Given the description of an element on the screen output the (x, y) to click on. 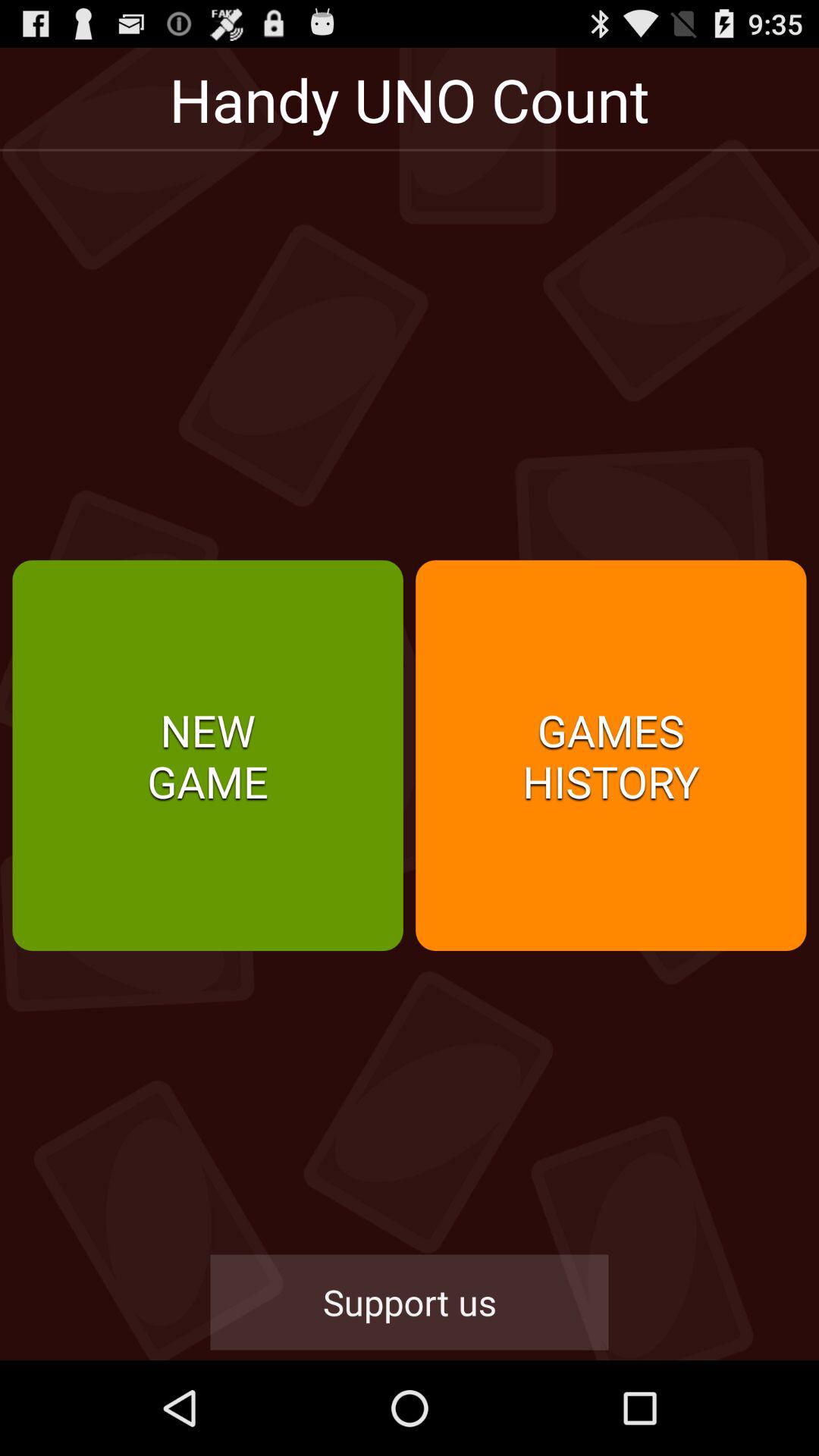
open button at the bottom (409, 1302)
